Given the description of an element on the screen output the (x, y) to click on. 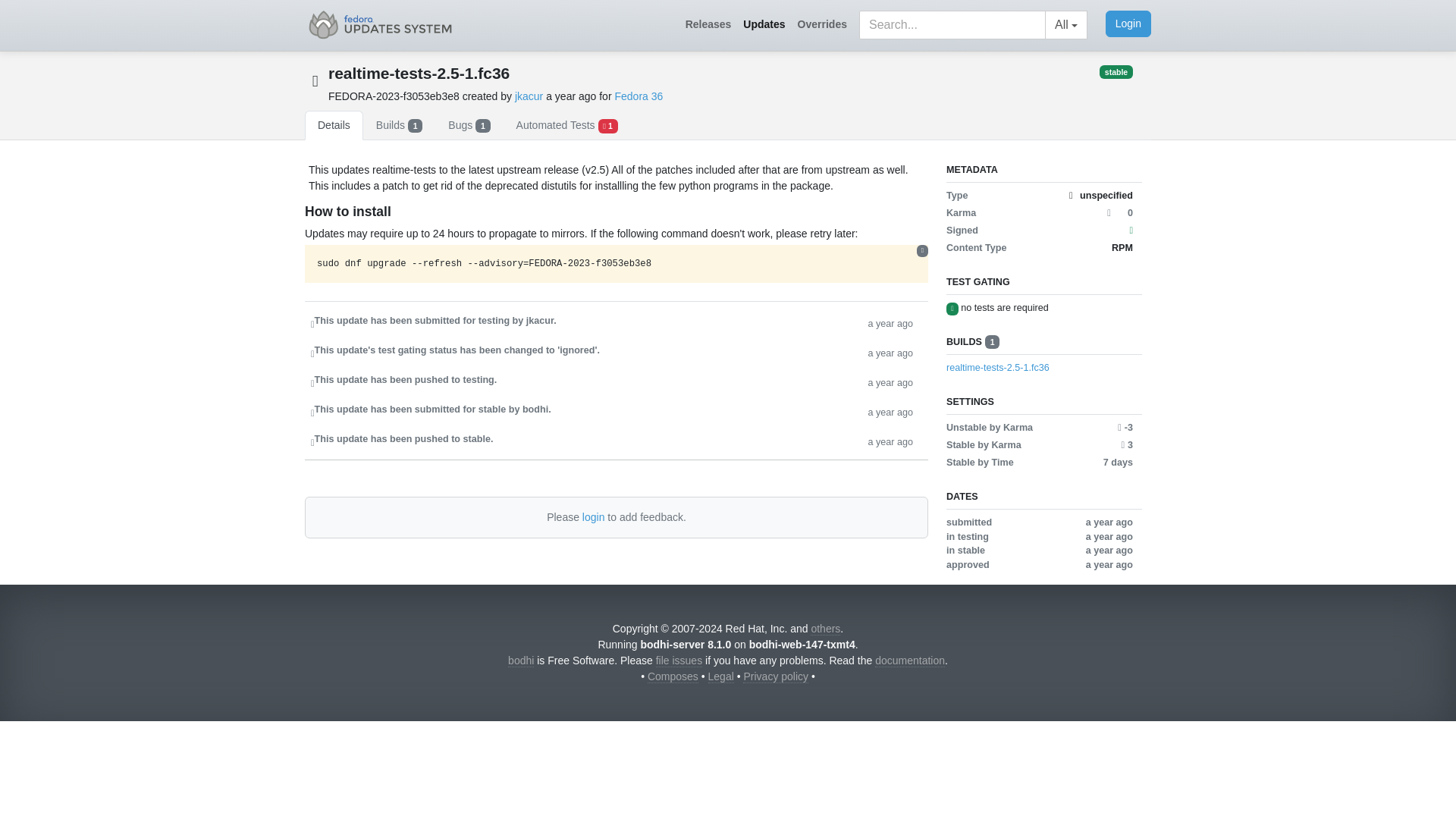
Automated Tests 1 (566, 125)
a year ago (889, 440)
Fedora 36 (638, 96)
a year ago (889, 381)
Copy to clipboard (922, 250)
Login (1128, 23)
2023-02-17 15:44:15.807706 UTC (572, 96)
Builds 1 (398, 125)
login (593, 517)
jkacur (529, 96)
The update will be marked as unstable when karma reaches -3  (1125, 427)
no tests are required (1004, 307)
a year ago (889, 411)
Releases (708, 24)
Details (333, 125)
